Given the description of an element on the screen output the (x, y) to click on. 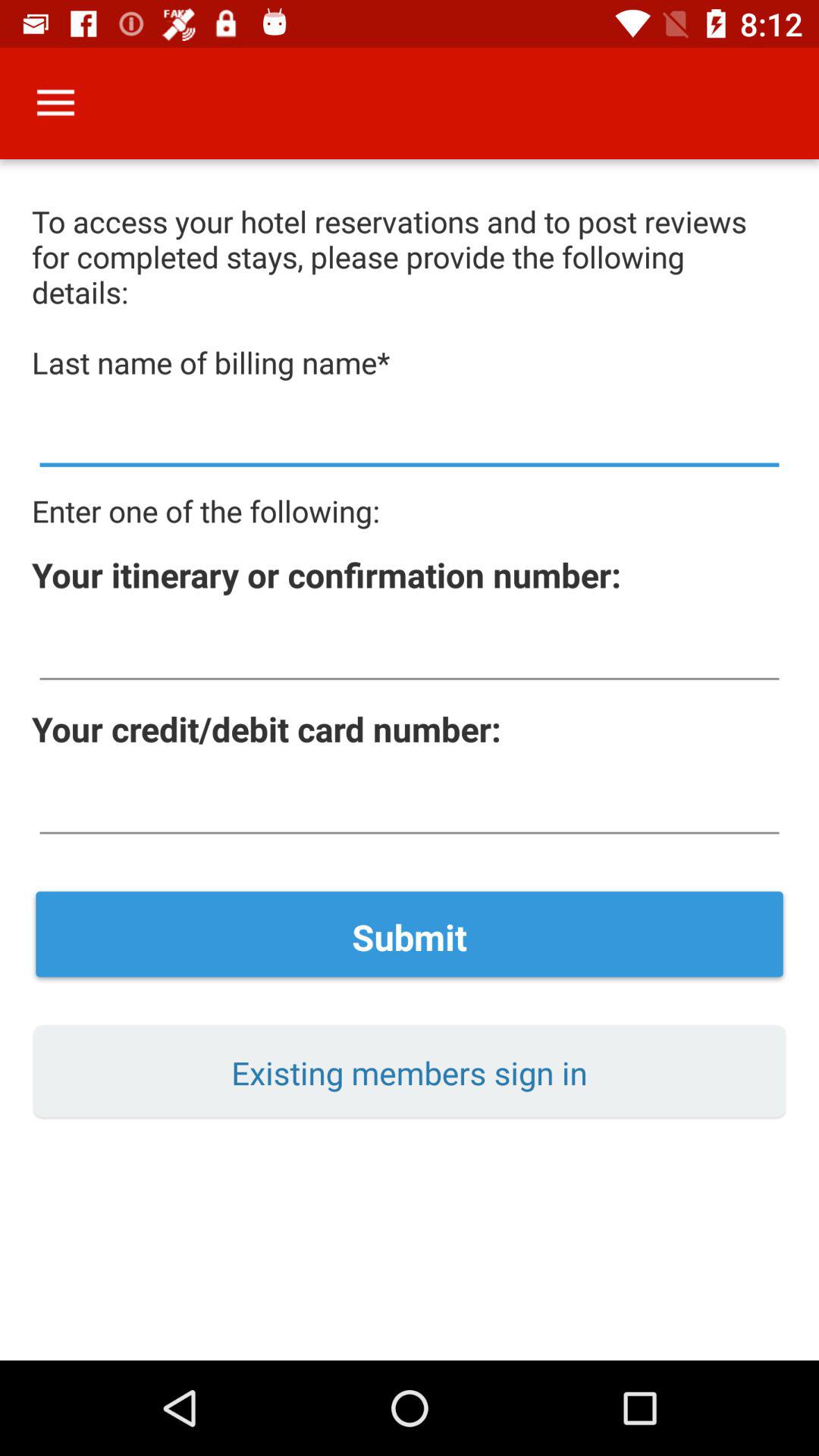
jump to the submit item (409, 937)
